Given the description of an element on the screen output the (x, y) to click on. 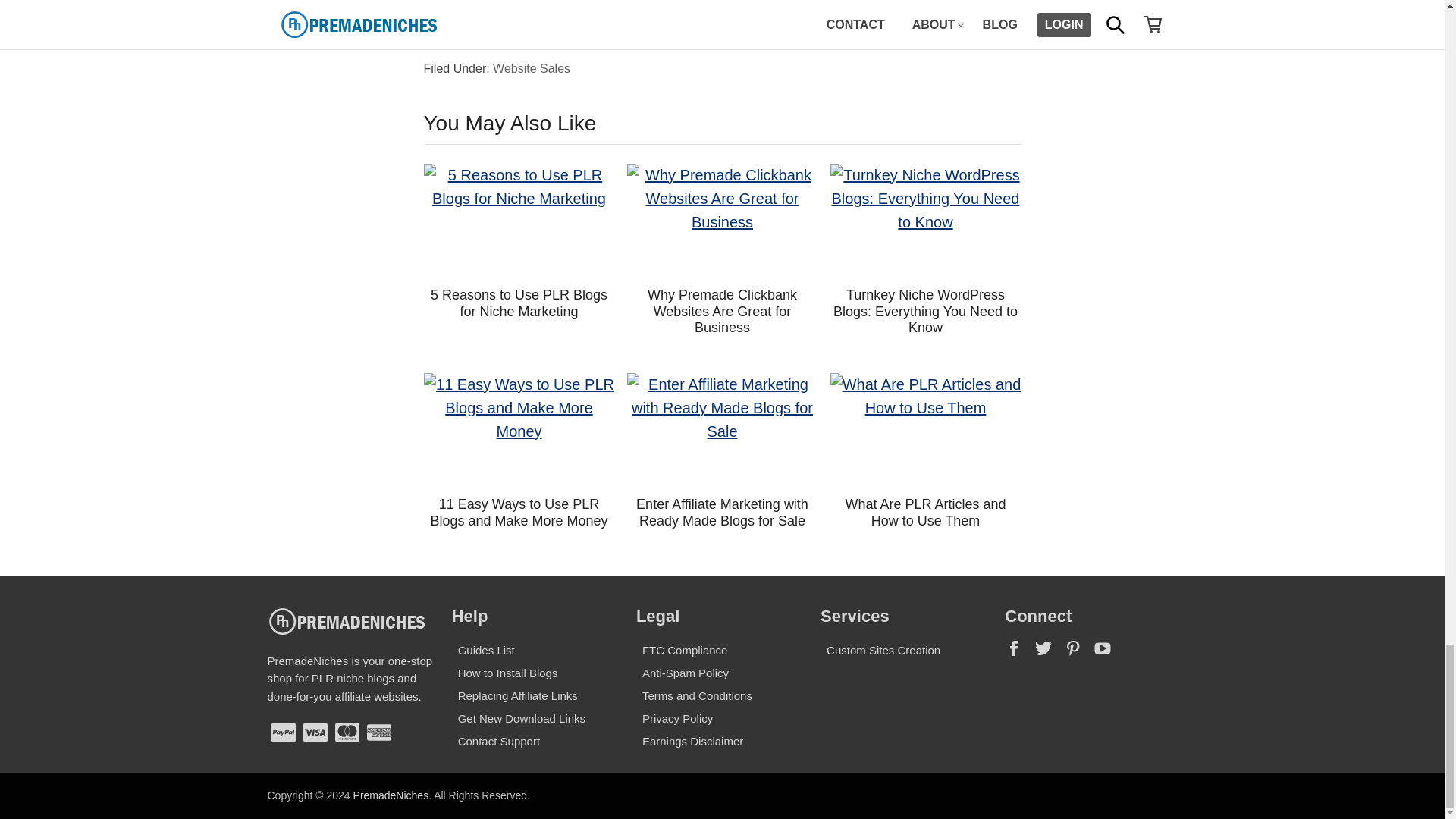
11 Easy Ways to Use PLR Blogs and Make More Money (518, 430)
Why Premade Clickbank Websites Are Great for Business (721, 310)
Enter Affiliate Marketing with Ready Made Blogs for Sale (721, 430)
How to Install Blogs (507, 672)
Turnkey Niche WordPress Blogs: Everything You Need to Know (924, 310)
What Are PLR Articles and How to Use Them (924, 430)
5 Reasons to Use PLR Blogs for Niche Marketing (518, 303)
Follow us on Pinterest (1078, 653)
Follow us on Facebook (1018, 653)
Why Premade Clickbank Websites Are Great for Business (721, 220)
